Given the description of an element on the screen output the (x, y) to click on. 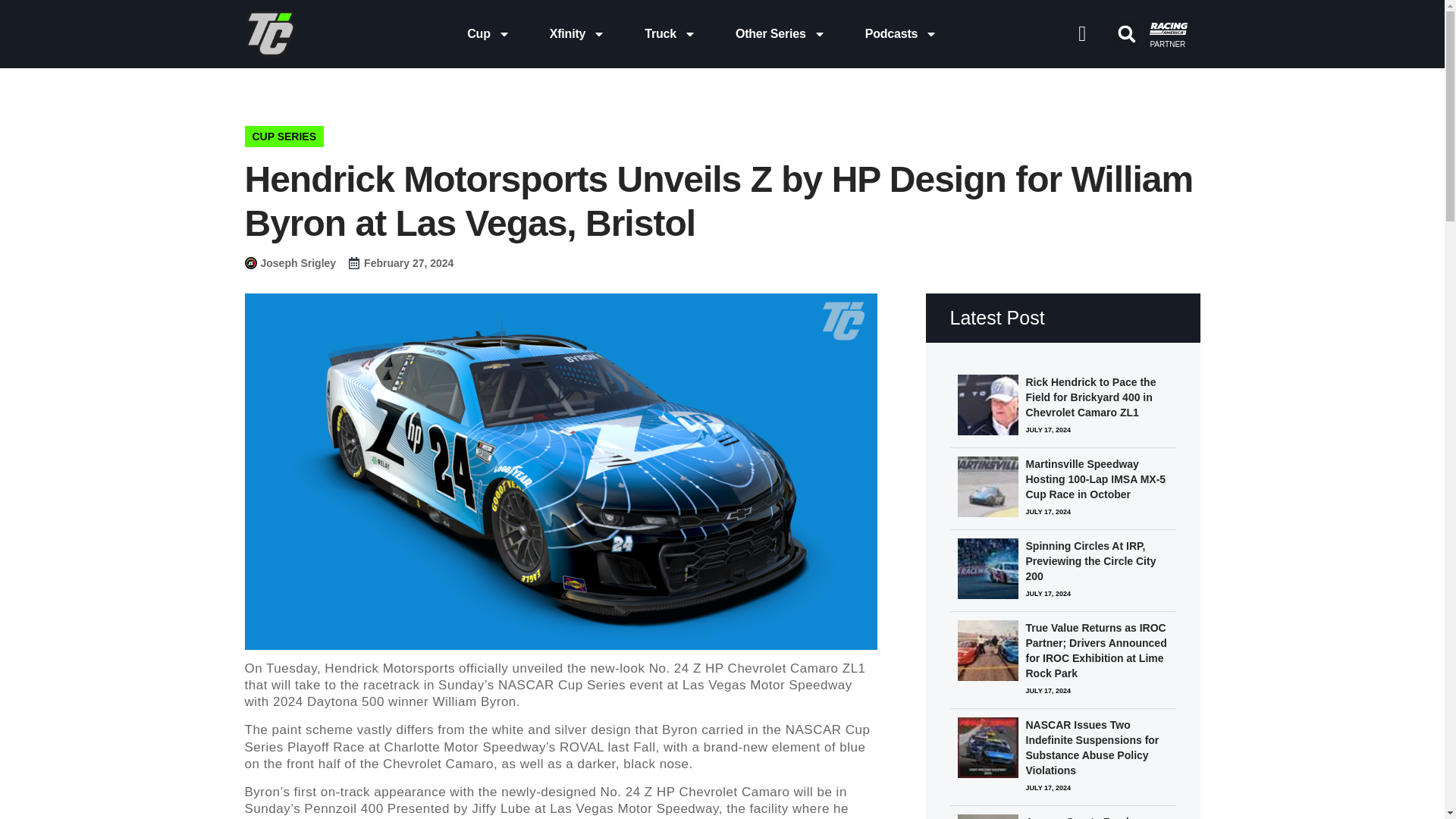
Truck (670, 33)
Spinning Circles At IRP, Previewing the Circle City 200 (1099, 560)
Spinning Circles At IRP, Previewing the Circle City 200 (987, 568)
Xfinity (577, 33)
Cup (489, 33)
